Given the description of an element on the screen output the (x, y) to click on. 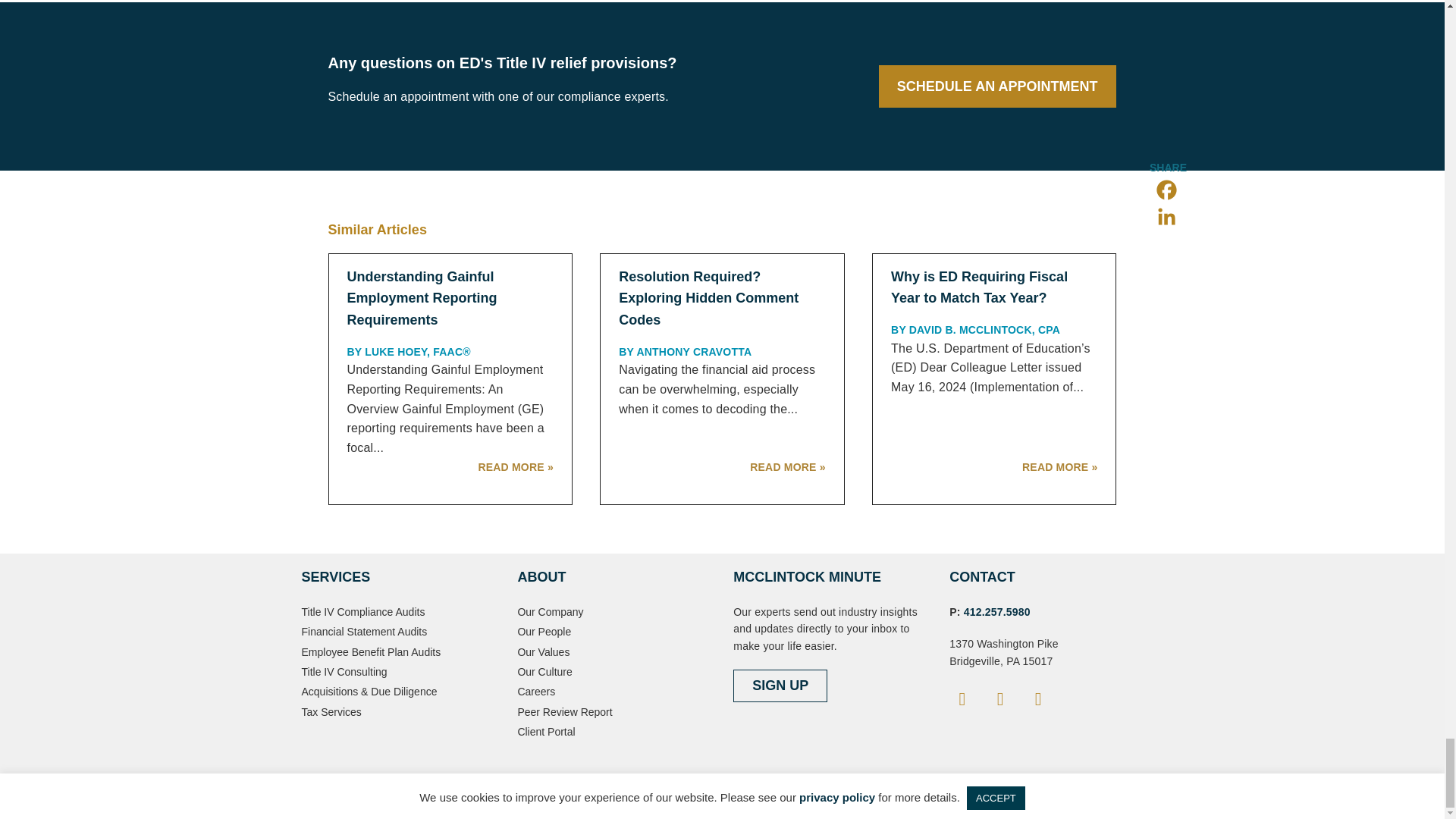
SCHEDULE AN APPOINTMENT (996, 86)
Why is ED Requiring Fiscal Year to Match Tax Year? (979, 287)
Resolution Required? Exploring Hidden Comment Codes (707, 298)
Understanding Gainful Employment Reporting Requirements (422, 298)
